Given the description of an element on the screen output the (x, y) to click on. 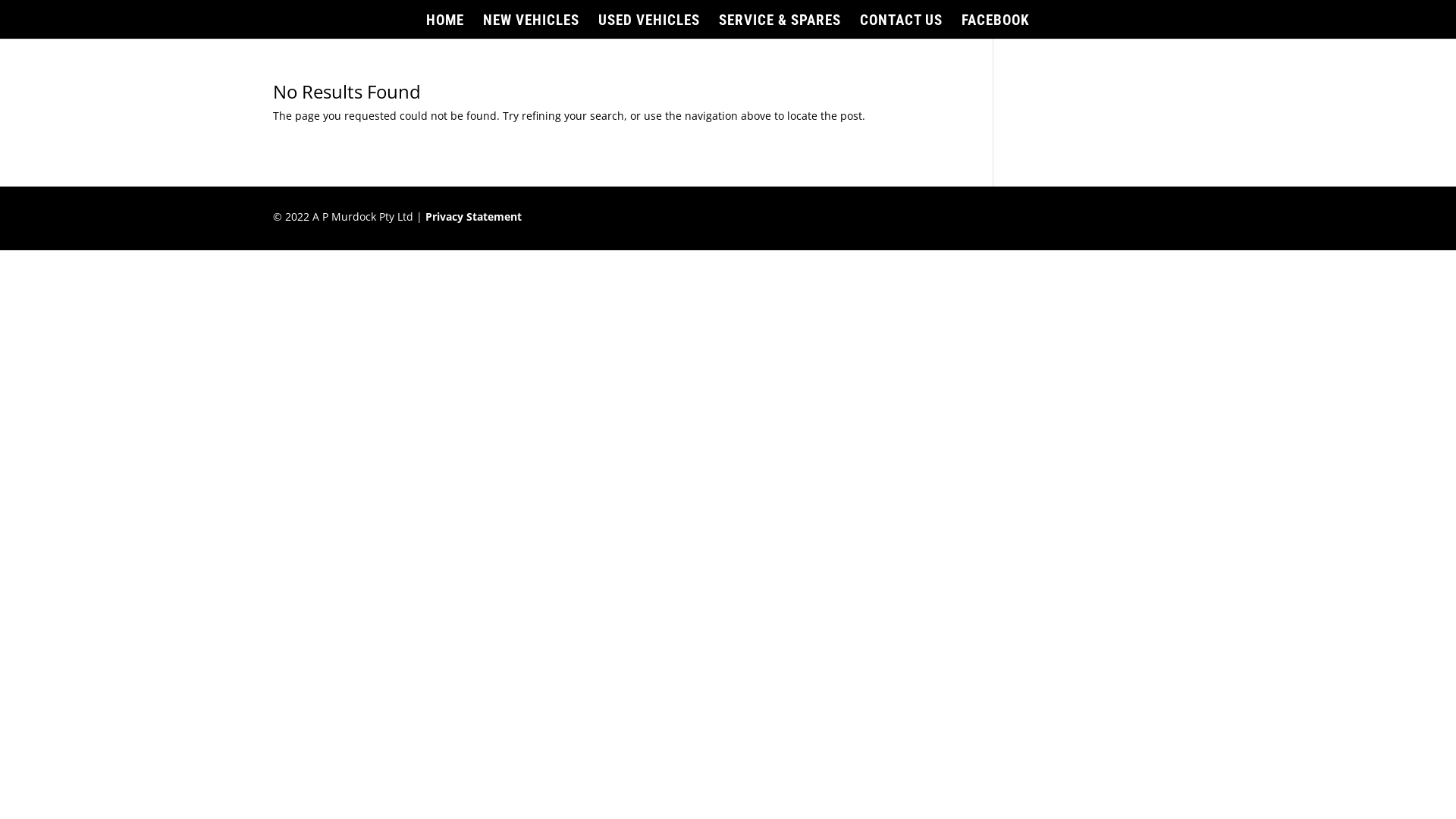
Privacy Statement Element type: text (473, 216)
FACEBOOK Element type: text (995, 26)
CONTACT US Element type: text (900, 26)
SERVICE & SPARES Element type: text (779, 26)
USED VEHICLES Element type: text (648, 26)
HOME Element type: text (445, 26)
NEW VEHICLES Element type: text (531, 26)
